Given the description of an element on the screen output the (x, y) to click on. 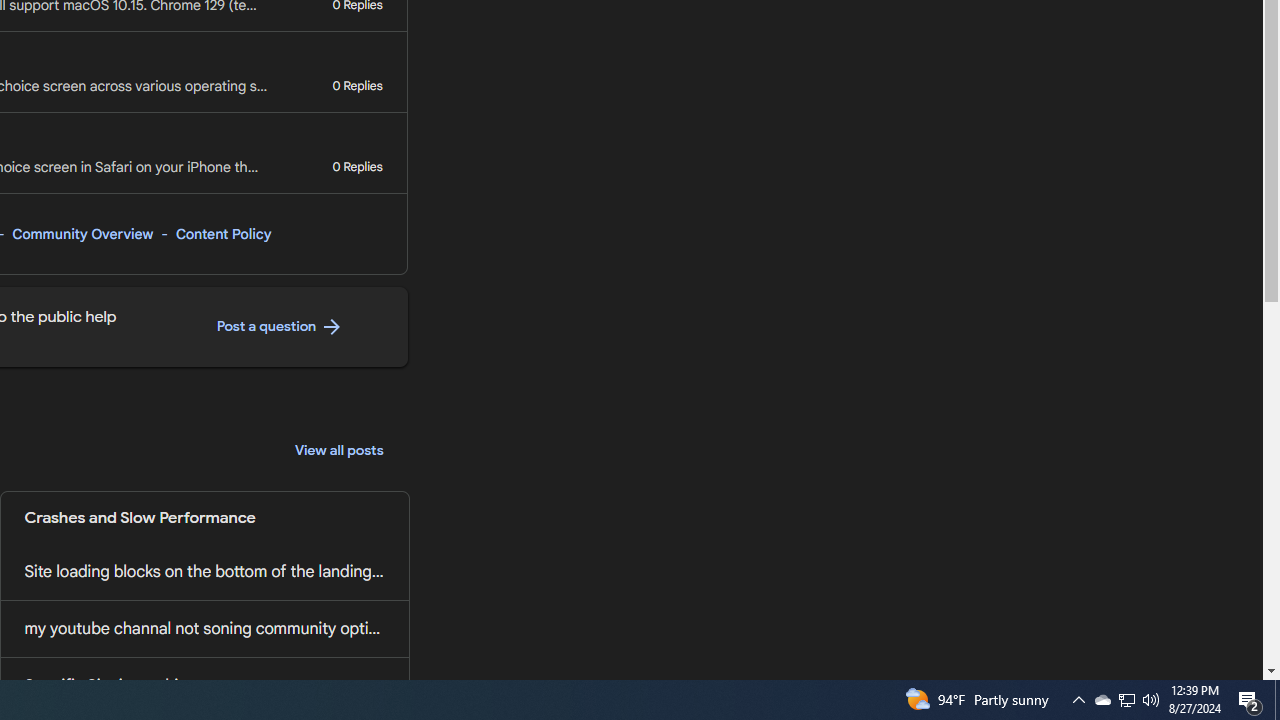
Community Overview (82, 233)
Content Policy (223, 233)
View all posts (339, 450)
Post a question  (280, 327)
